Given the description of an element on the screen output the (x, y) to click on. 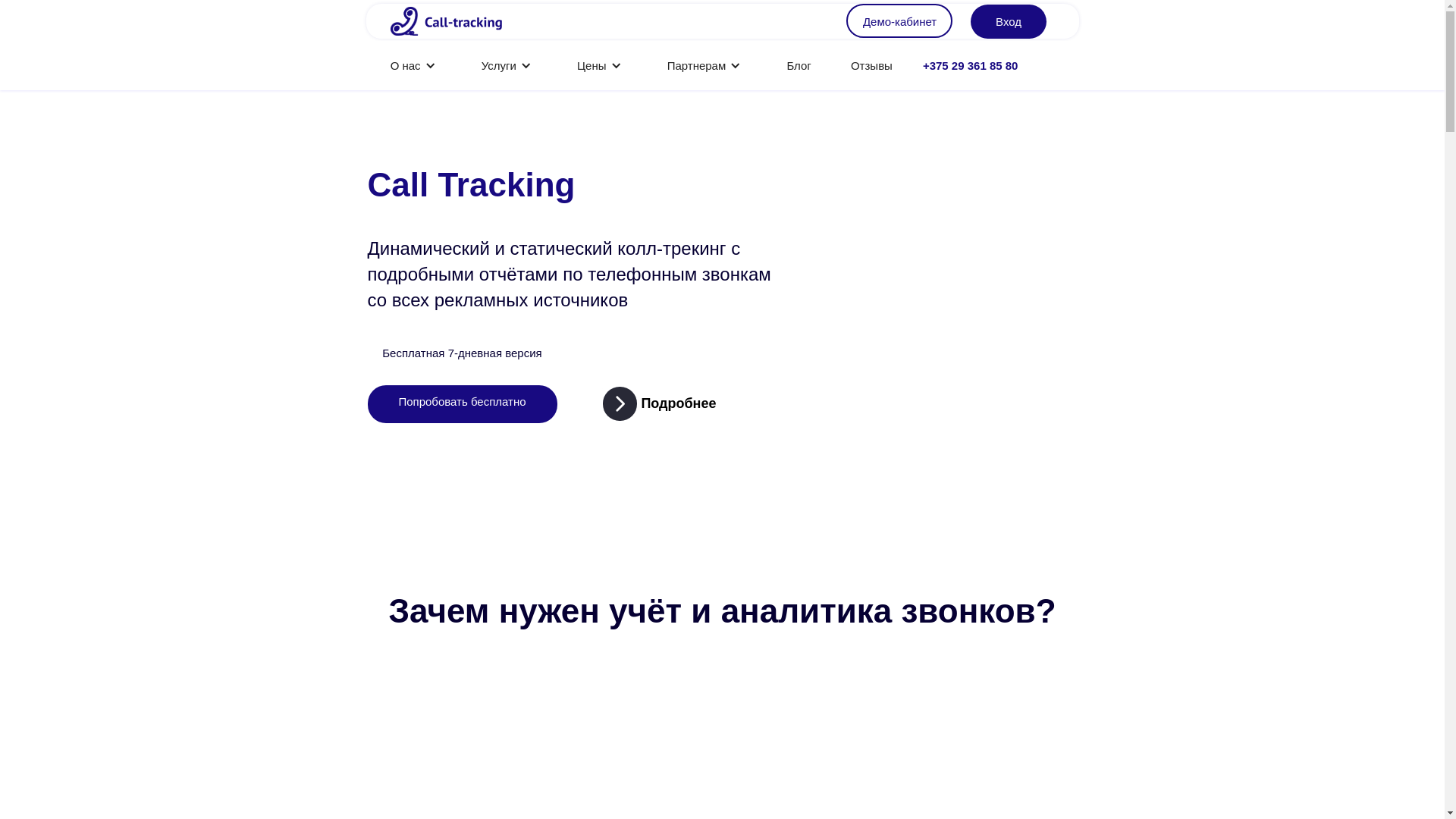
+375 29 361 85 80 Element type: text (970, 65)
